Given the description of an element on the screen output the (x, y) to click on. 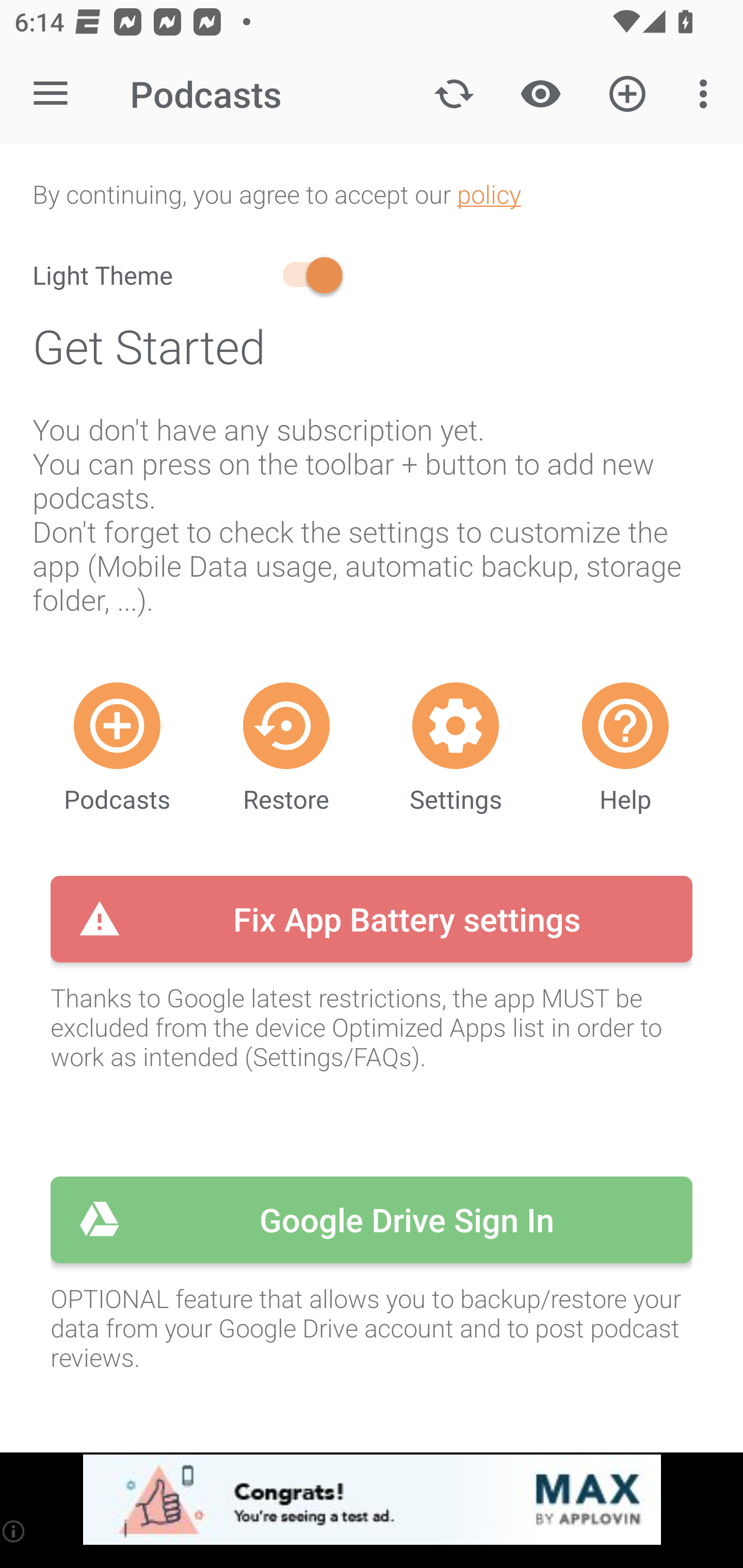
Open navigation sidebar (50, 93)
Update (453, 93)
Show / Hide played content (540, 93)
Add new Podcast (626, 93)
More options (706, 93)
Light Theme (190, 274)
RSS (116, 725)
RSS (285, 725)
RSS (455, 725)
RSS (624, 725)
Fix App Battery settings (371, 919)
Google Drive Sign In (371, 1219)
